Given the description of an element on the screen output the (x, y) to click on. 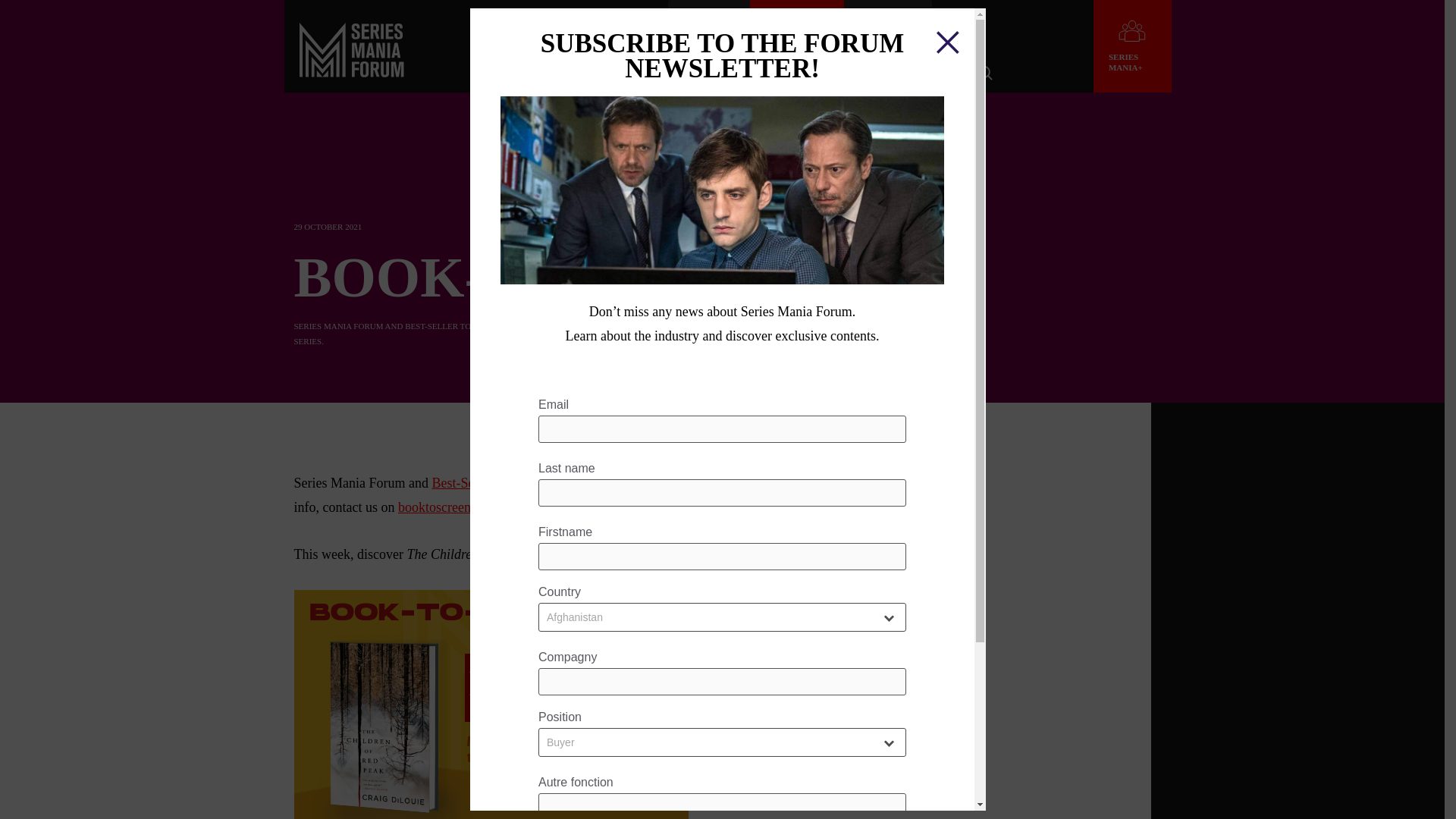
FR (954, 27)
2024 EDITION (524, 73)
GET INFORMED (775, 73)
FESTIVAL (708, 26)
PARTICIPATE (684, 73)
Home page (351, 64)
DISCOVER (604, 73)
